Given the description of an element on the screen output the (x, y) to click on. 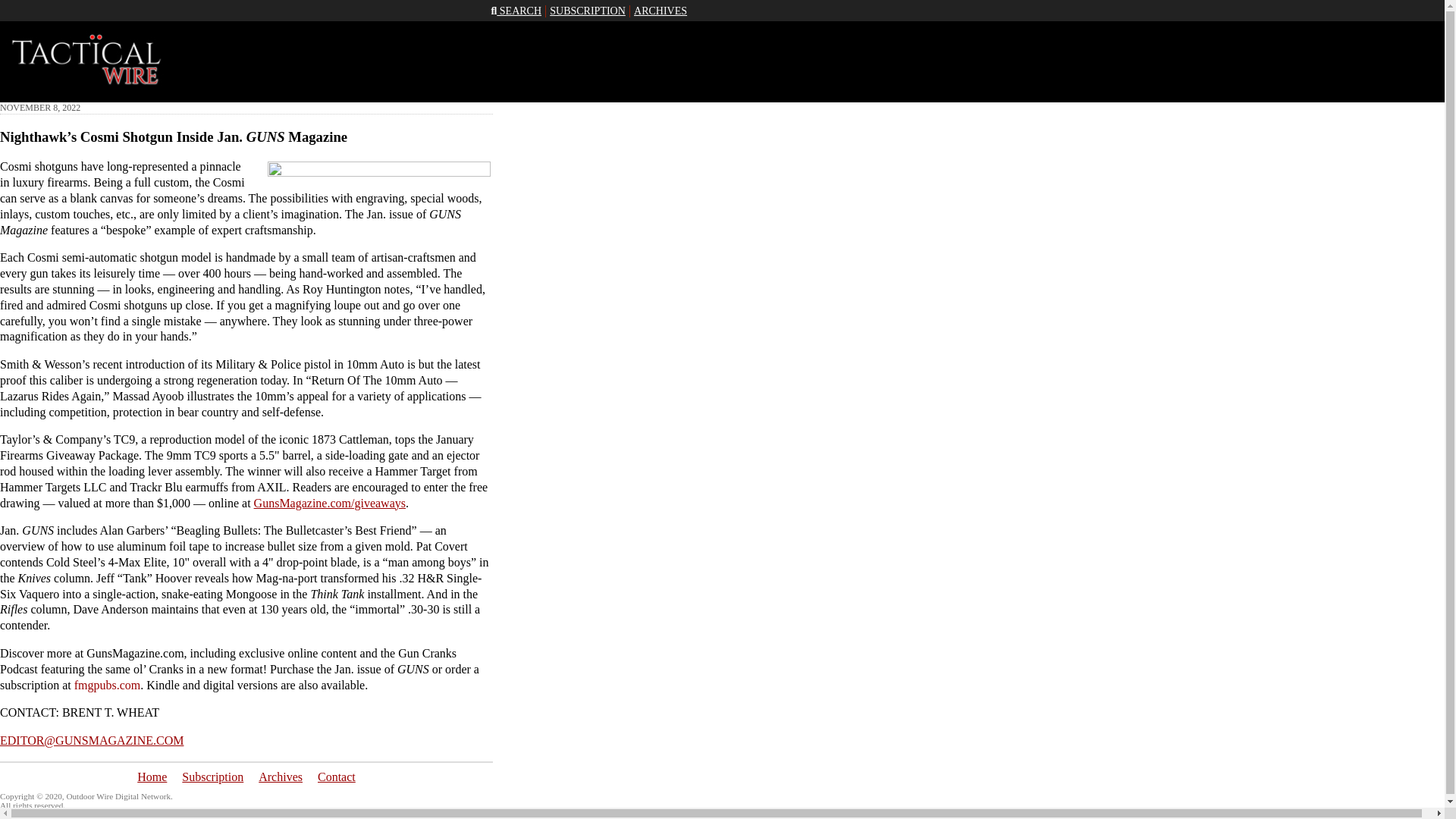
Archives (280, 776)
SUBSCRIPTION (588, 10)
Contact (336, 776)
SEARCH (516, 10)
ARCHIVES (660, 10)
Subscription (212, 776)
Home (151, 776)
fmgpubs.com (107, 684)
